Given the description of an element on the screen output the (x, y) to click on. 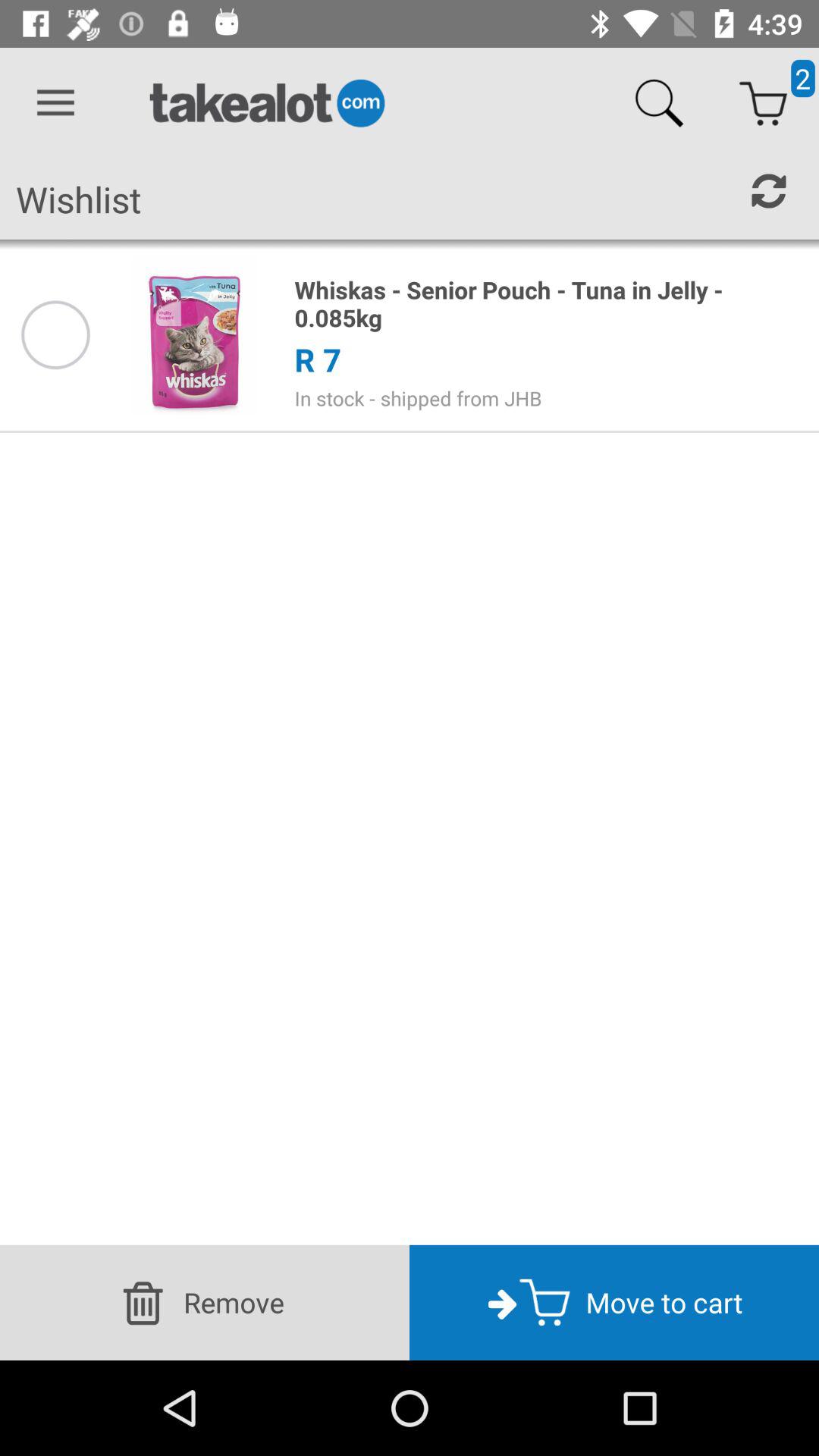
press the in stock shipped item (548, 398)
